Given the description of an element on the screen output the (x, y) to click on. 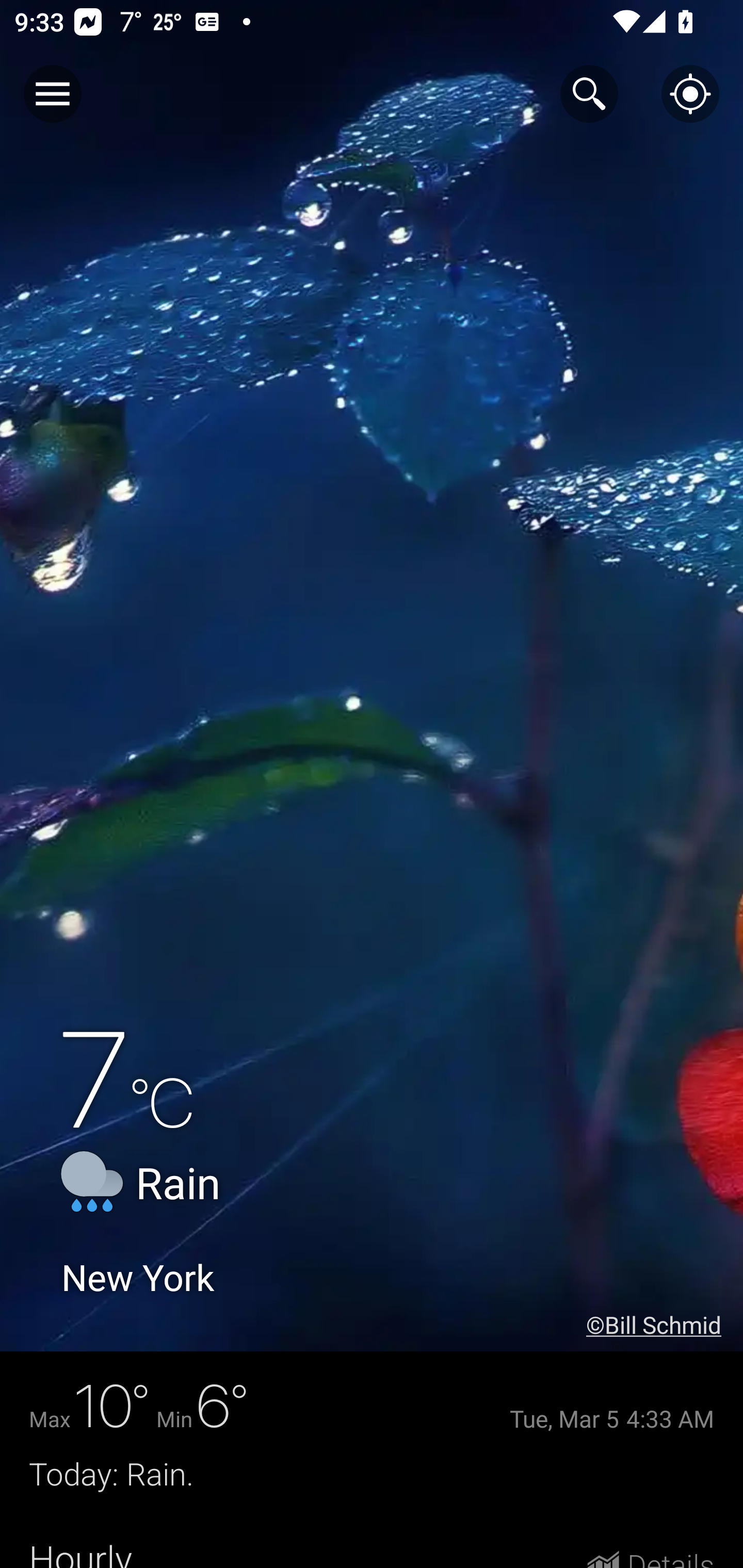
©Bill Schmid (664, 1324)
